Given the description of an element on the screen output the (x, y) to click on. 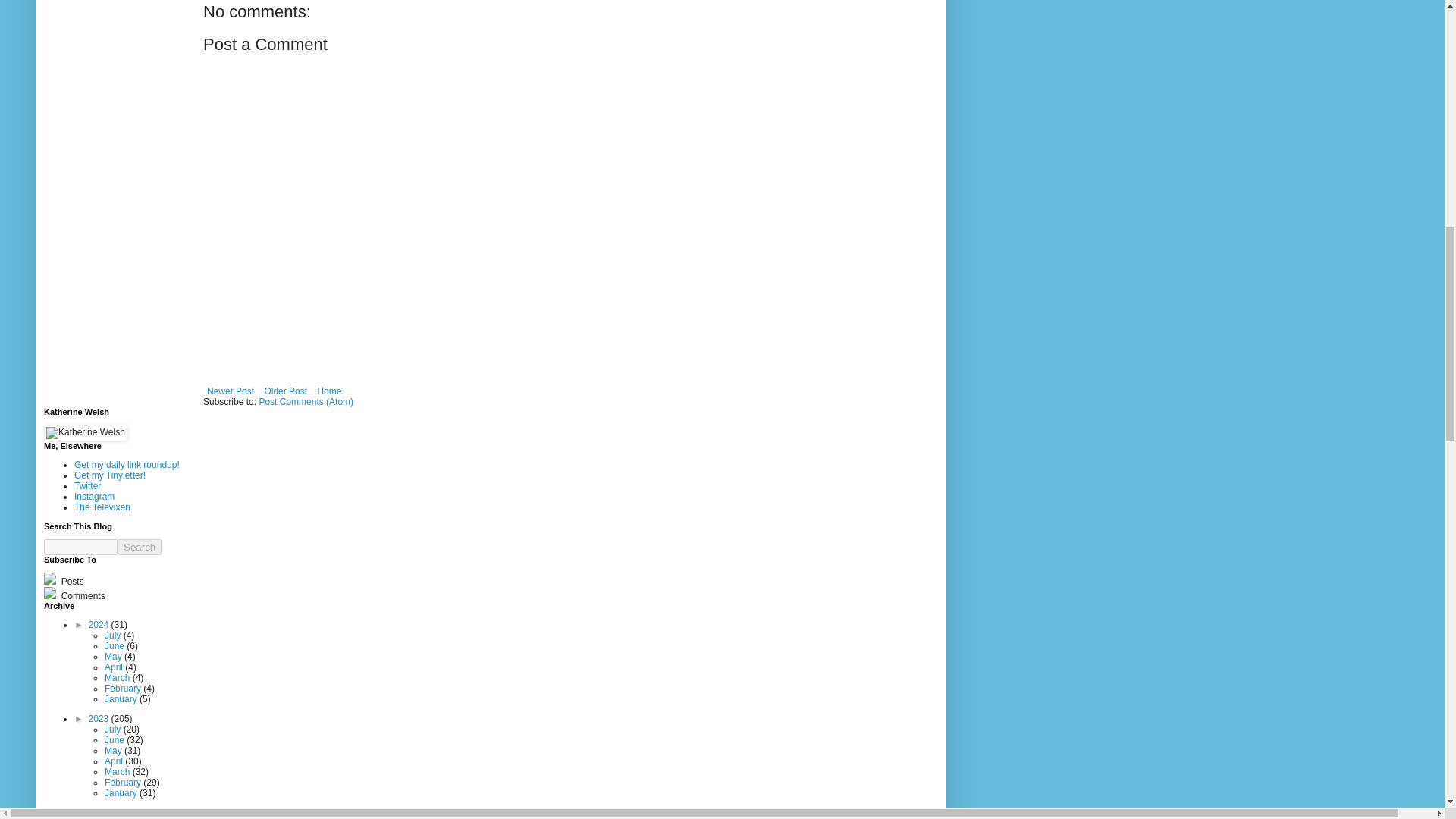
search (139, 546)
Search (139, 546)
Older Post (285, 391)
Newer Post (230, 391)
search (80, 546)
Search (139, 546)
